Given the description of an element on the screen output the (x, y) to click on. 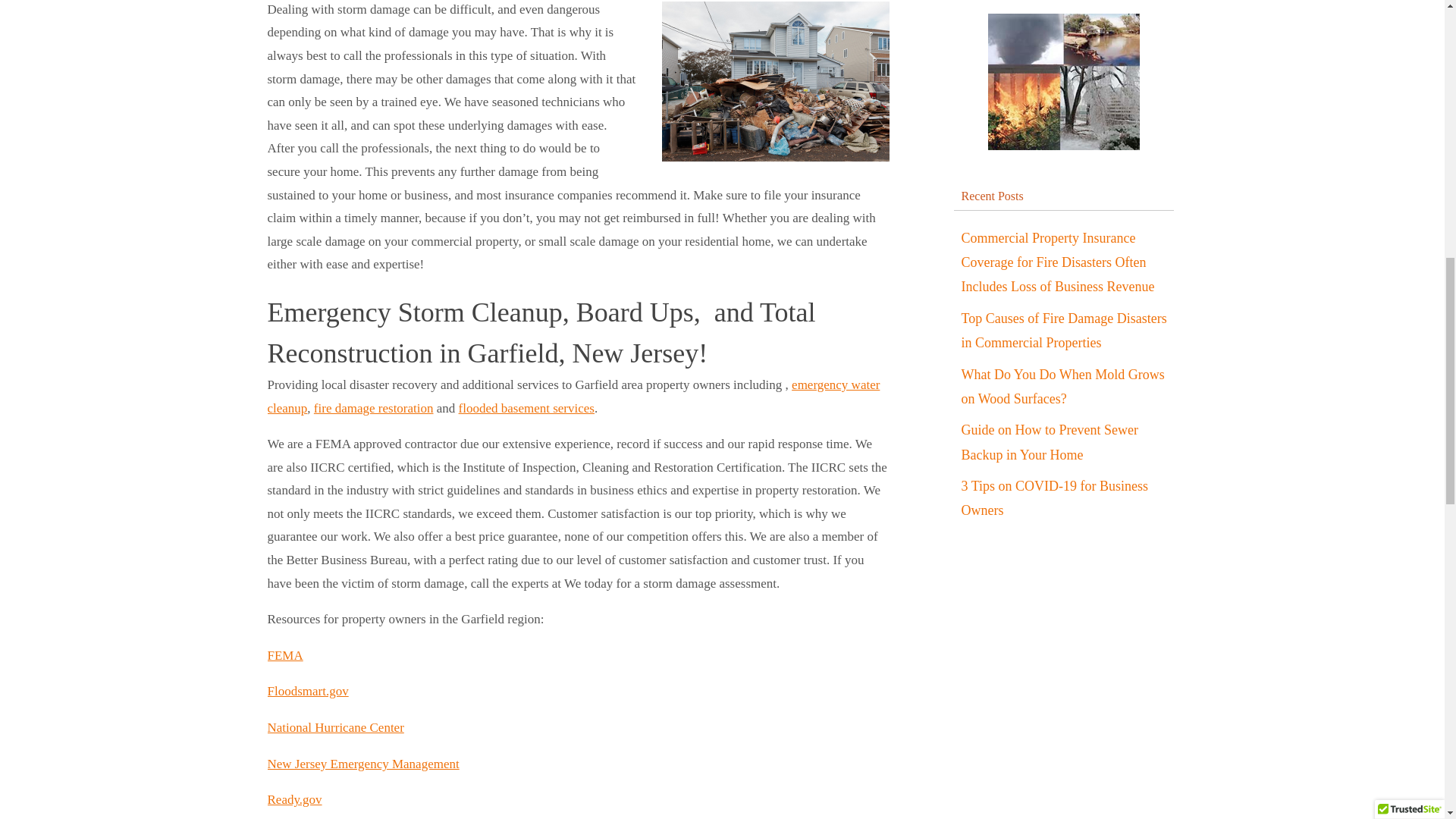
What Do You Do When Mold Grows on Wood Surfaces? (1062, 386)
fire damage restoration (373, 408)
New Jersey Emergency Management (362, 763)
Floodsmart.gov (306, 690)
emergency water cleanup (572, 396)
FEMA (284, 655)
flooded basement services (526, 408)
Guide on How to Prevent Sewer Backup in Your Home (1049, 442)
Ready.gov (293, 799)
National Hurricane Center (334, 727)
Top Causes of Fire Damage Disasters in Commercial Properties (1063, 331)
